Given the description of an element on the screen output the (x, y) to click on. 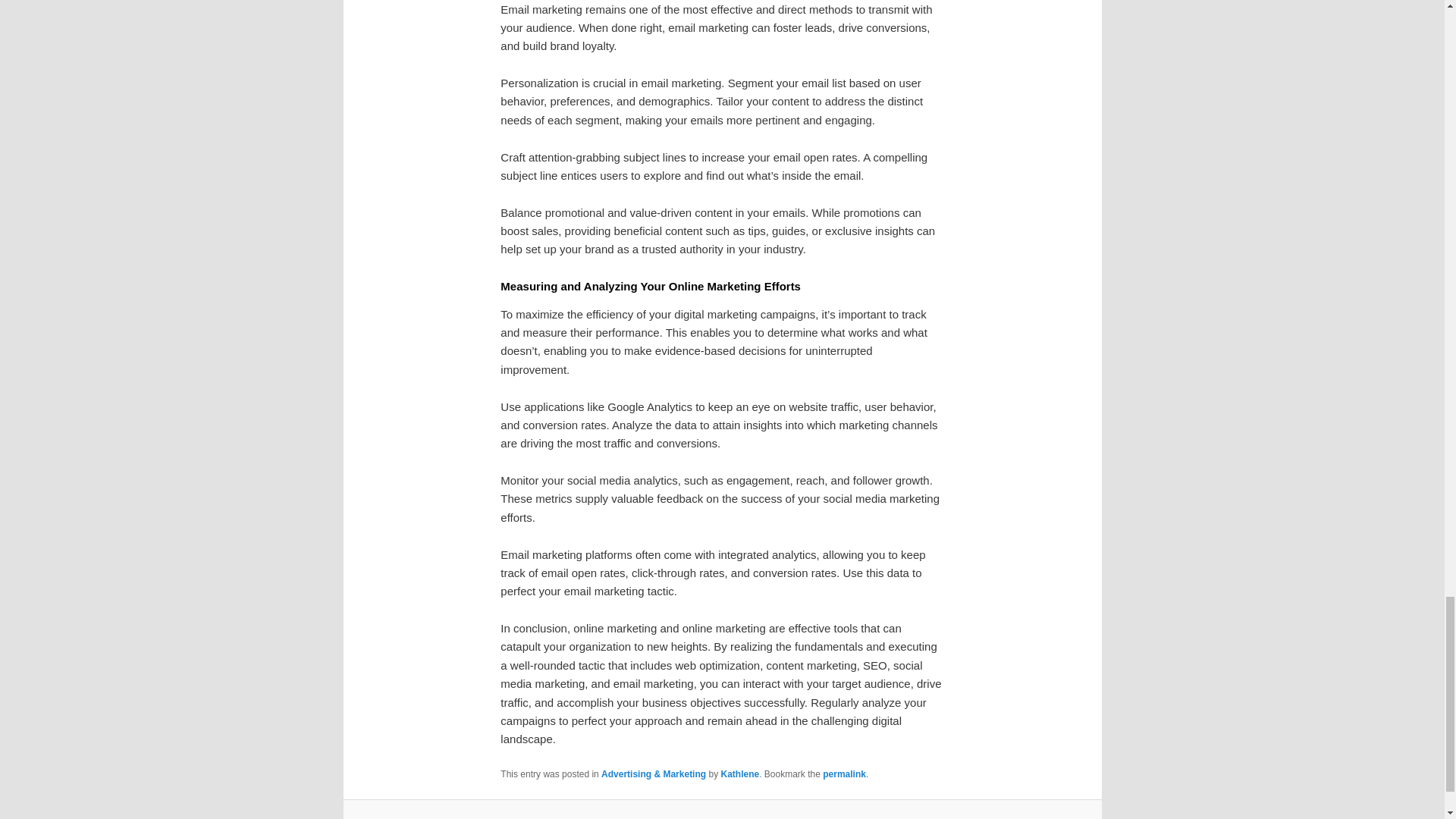
permalink (844, 774)
Kathlene (739, 774)
